Given the description of an element on the screen output the (x, y) to click on. 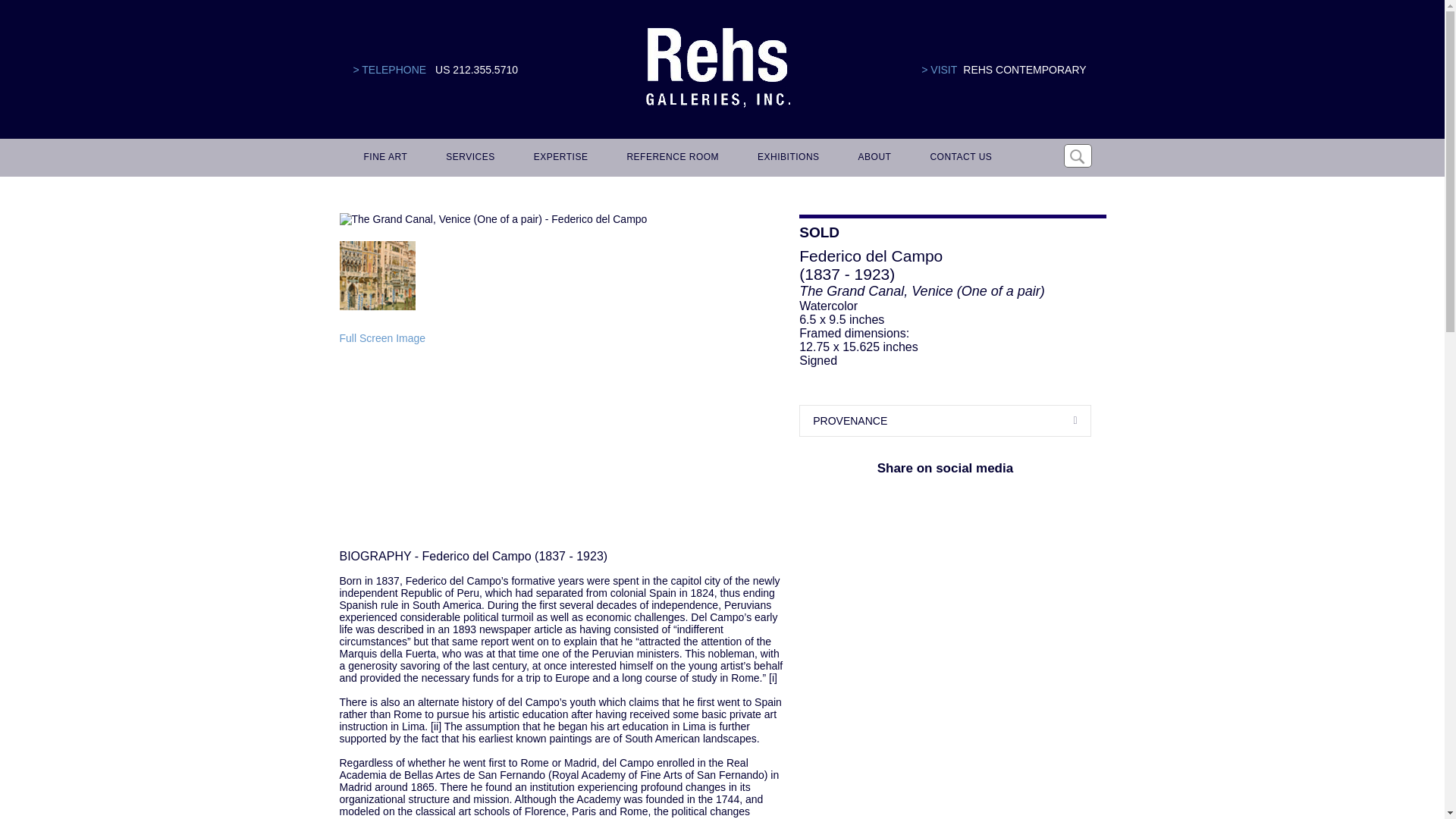
Logo (717, 67)
ABOUT (872, 157)
REFERENCE ROOM (670, 157)
EXHIBITIONS (785, 157)
EXPERTISE (558, 157)
Full Screen Image (382, 337)
REHS CONTEMPORARY (1024, 69)
CONTACT US (957, 157)
FINE ART (383, 157)
SERVICES (467, 157)
